Given the description of an element on the screen output the (x, y) to click on. 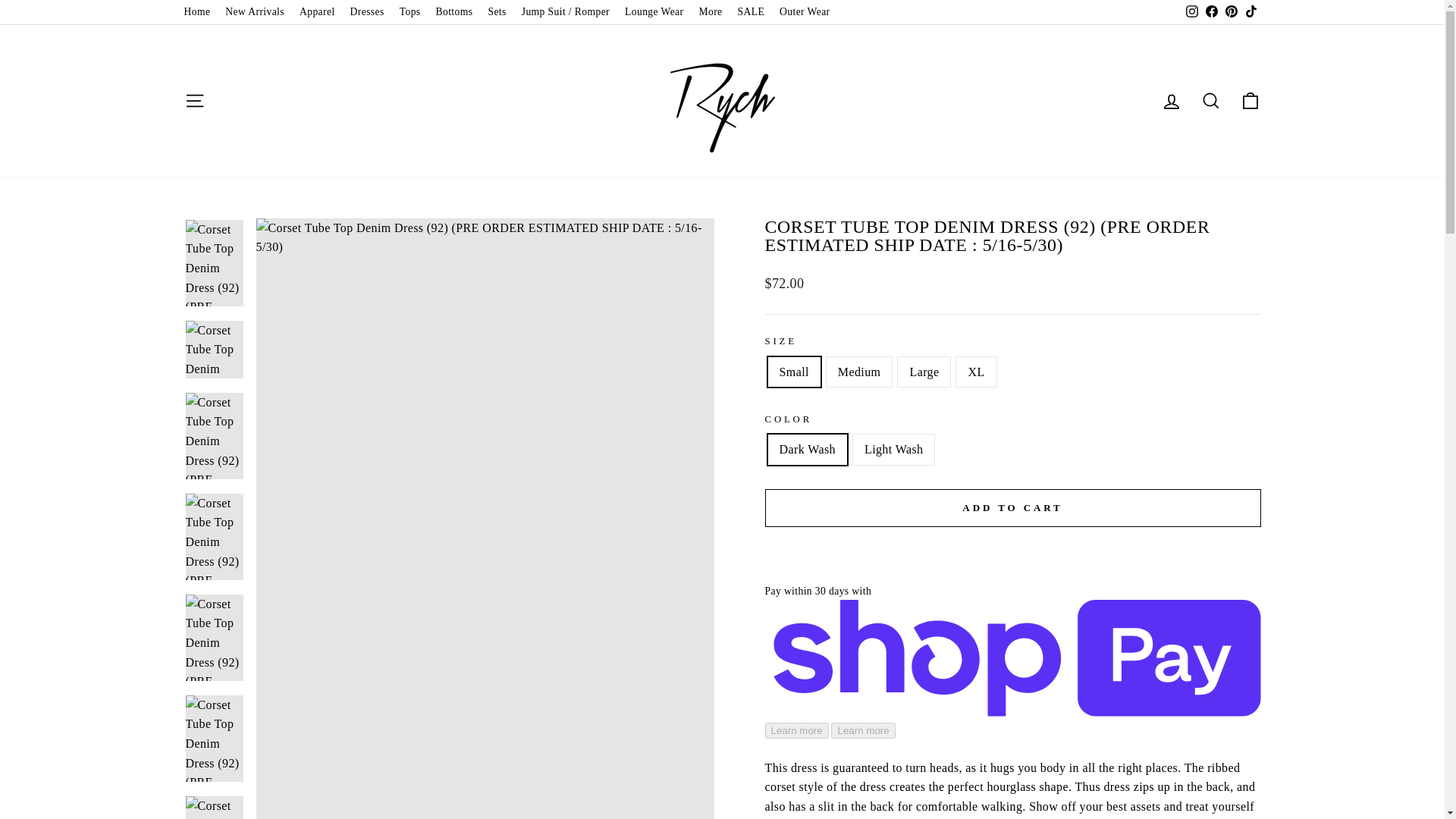
Tops (409, 12)
Dresses (366, 12)
shoprych.com on Facebook (1211, 12)
shoprych.com on Pinterest (1230, 12)
New Arrivals (254, 12)
shoprych.com on TikTok (1250, 12)
Apparel (317, 12)
shoprych.com on Instagram (1190, 12)
Home (196, 12)
